Given the description of an element on the screen output the (x, y) to click on. 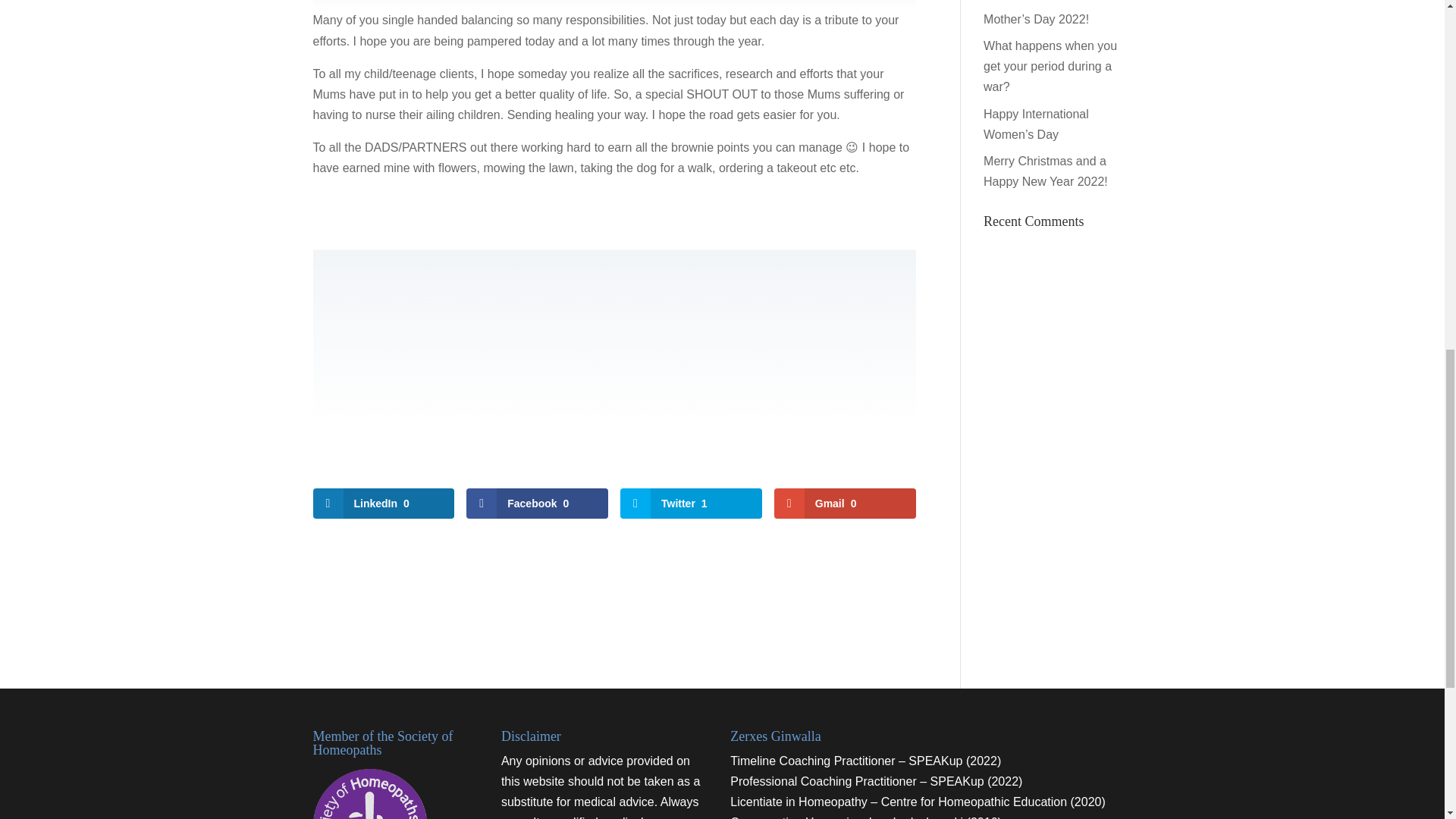
society-of-homeopaths-logo (369, 794)
